Given the description of an element on the screen output the (x, y) to click on. 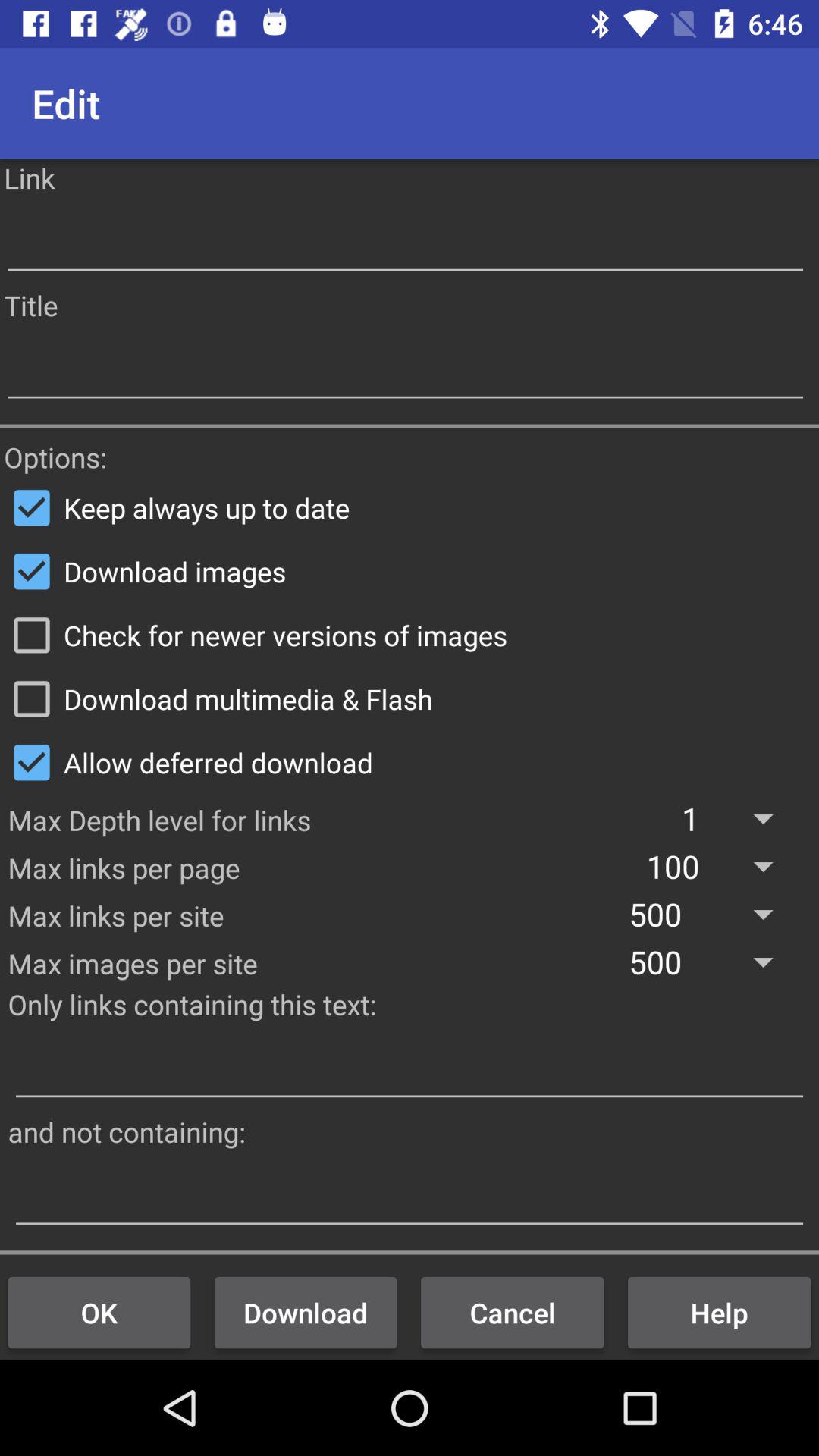
swipe until download images checkbox (409, 571)
